Given the description of an element on the screen output the (x, y) to click on. 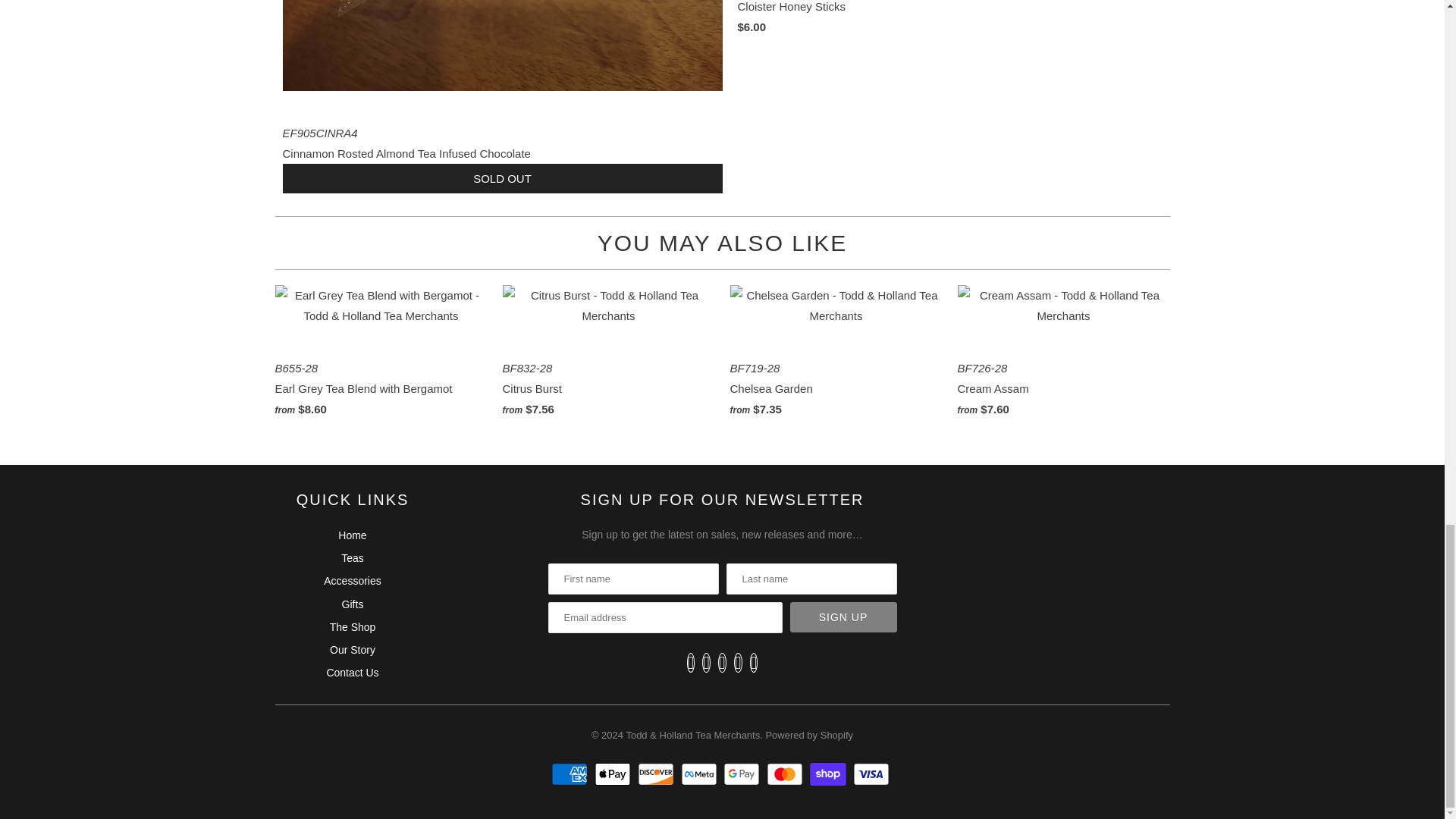
Sign Up (843, 616)
Mastercard (786, 773)
Discover (657, 773)
American Express (571, 773)
Visa (873, 773)
Shop Pay (829, 773)
Google Pay (742, 773)
Apple Pay (614, 773)
Meta Pay (700, 773)
